Given the description of an element on the screen output the (x, y) to click on. 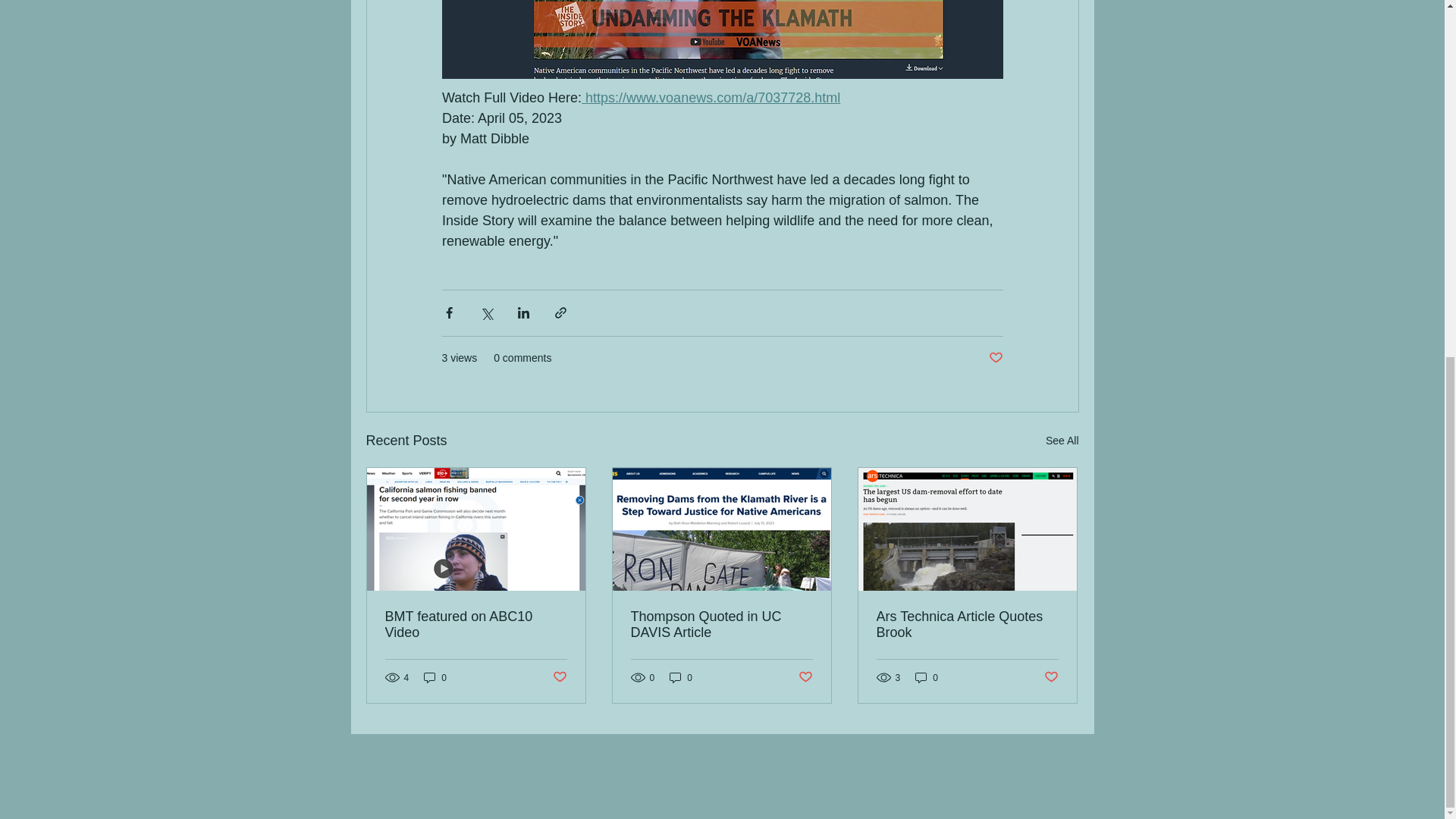
0 (435, 677)
Post not marked as liked (558, 677)
Thompson Quoted in UC DAVIS Article (721, 624)
Post not marked as liked (995, 358)
0 (681, 677)
See All (1061, 440)
BMT featured on ABC10 Video (476, 624)
